Given the description of an element on the screen output the (x, y) to click on. 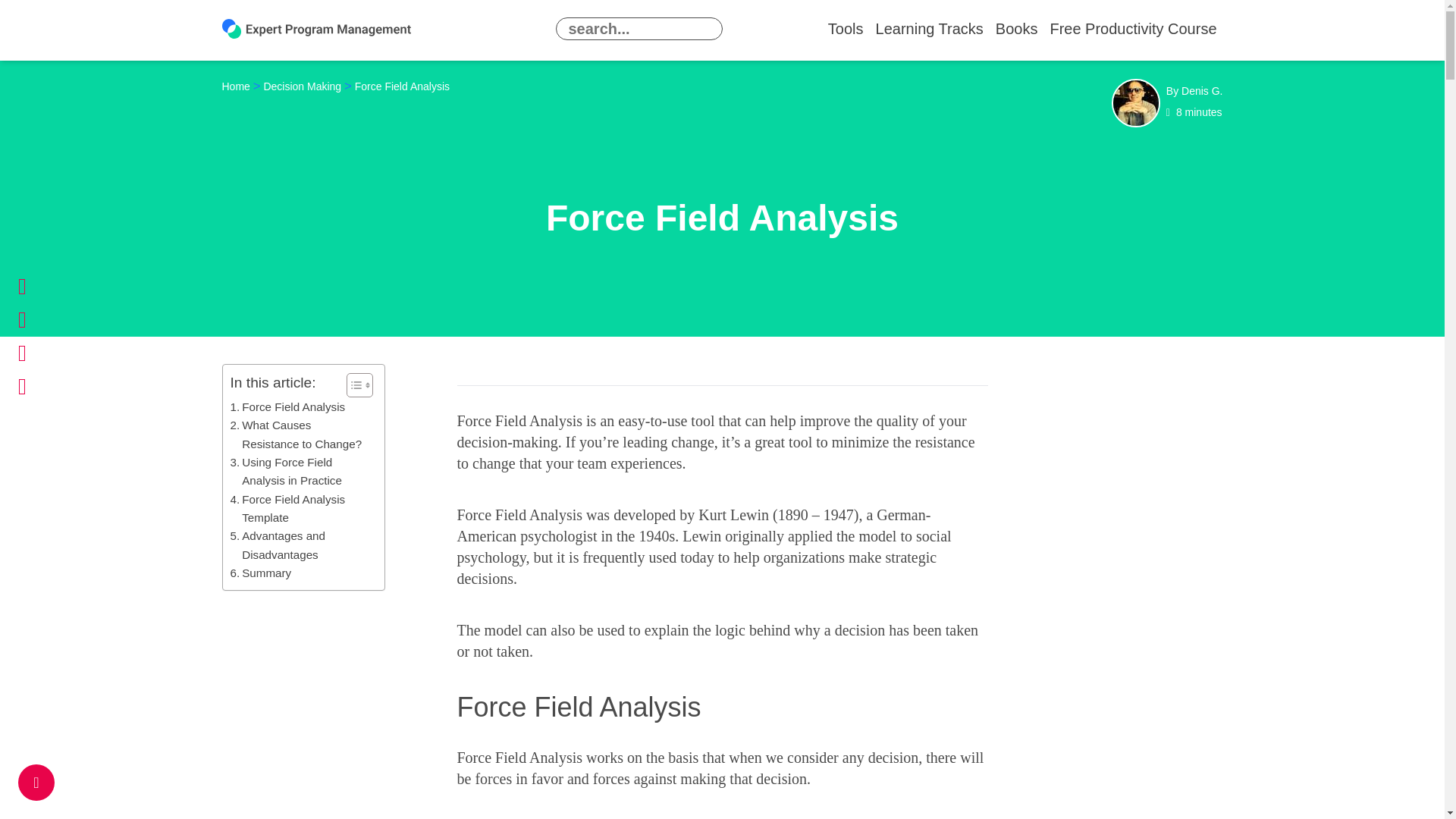
Force Field Analysis Template (299, 508)
Using Force Field Analysis in Practice (299, 471)
Learning Tracks (929, 28)
Summary (261, 573)
Decision Making (301, 86)
Free Productivity Course (1133, 28)
Advantages and Disadvantages (299, 545)
Books (1016, 28)
What Causes Resistance to Change? (299, 434)
Force Field Analysis (288, 407)
